Given the description of an element on the screen output the (x, y) to click on. 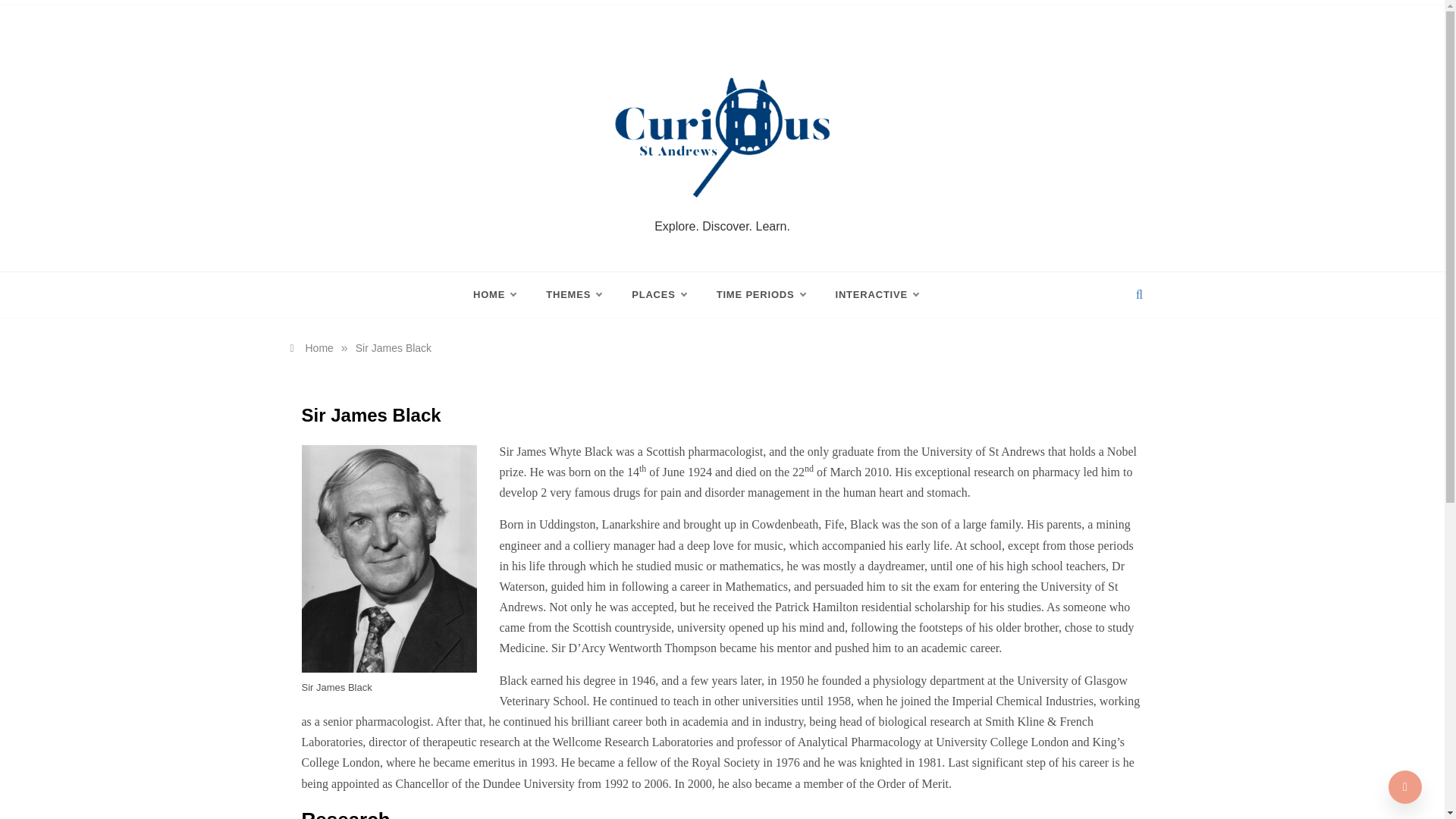
Go to Top (1405, 786)
INTERACTIVE (869, 294)
TIME PERIODS (761, 294)
THEMES (573, 294)
PLACES (658, 294)
HOME (502, 294)
